Given the description of an element on the screen output the (x, y) to click on. 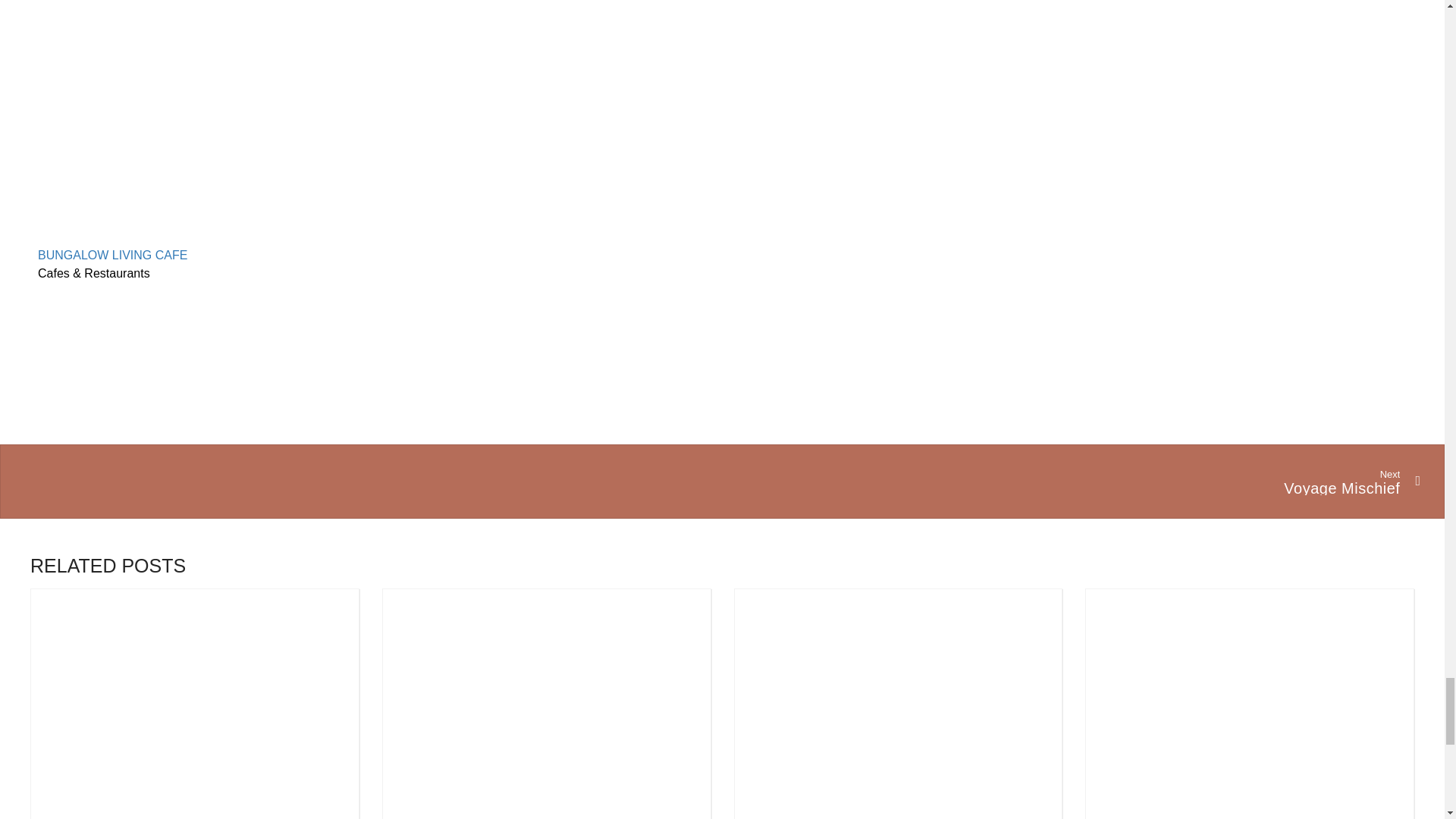
BUNGALOW LIVING CAFE (112, 254)
BUNGALOW LIVING CAFE (112, 254)
